Given the description of an element on the screen output the (x, y) to click on. 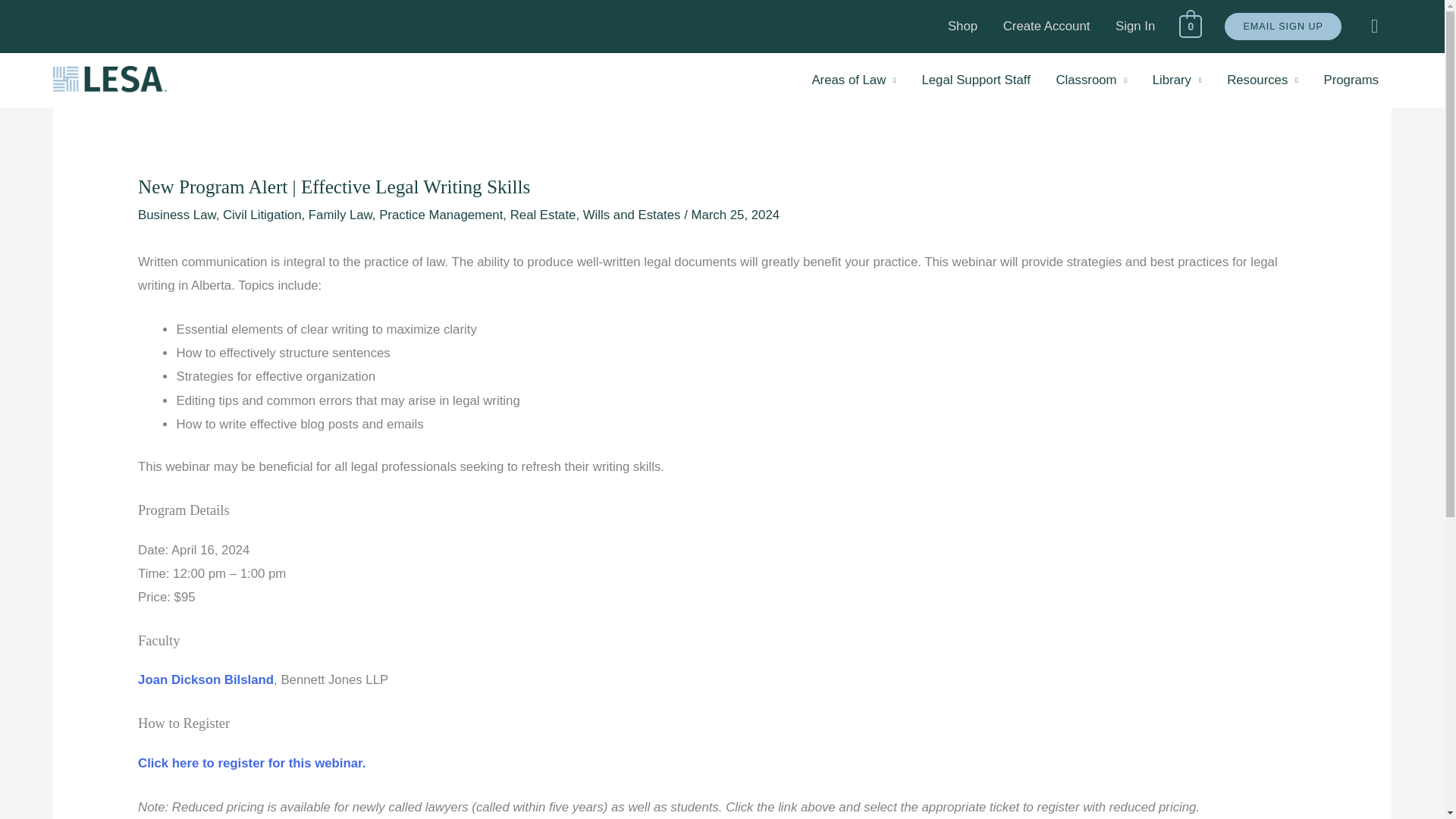
Resources (1262, 80)
EMAIL SIGN UP (1283, 26)
Create Account (1046, 26)
Sign In (1134, 26)
Legal Support Staff (975, 80)
Areas of Law (853, 80)
Programs (1351, 80)
0 (1190, 26)
Library (1177, 80)
Shop (962, 26)
Classroom (1091, 80)
